Given the description of an element on the screen output the (x, y) to click on. 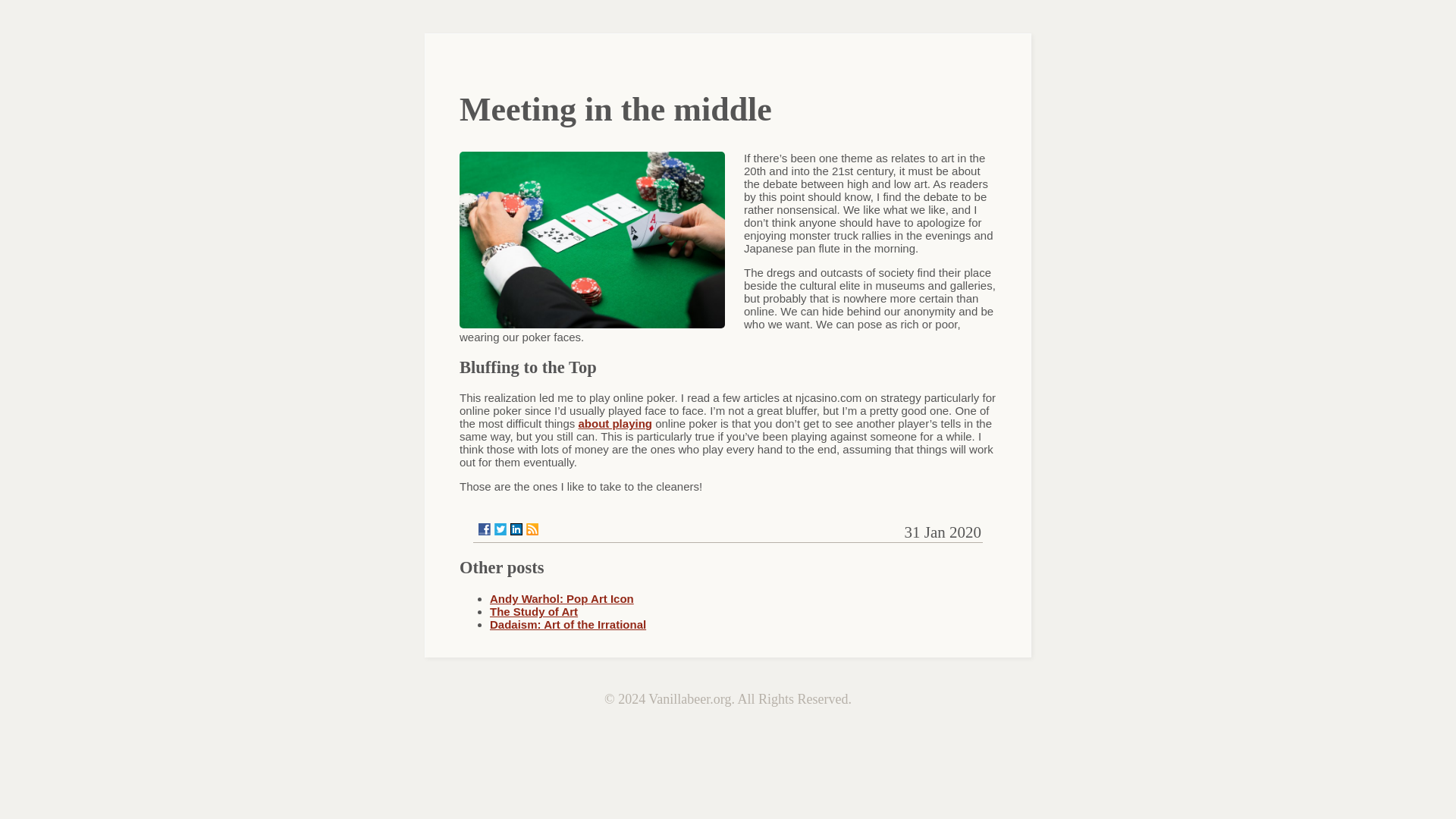
Andy Warhol: Pop Art Icon (561, 598)
Dadaism: Art of the Irrational (567, 624)
Twitter (500, 529)
LinkedIn (516, 529)
about playing (615, 422)
RSS (531, 529)
Facebook (484, 529)
The Study of Art (533, 611)
